Given the description of an element on the screen output the (x, y) to click on. 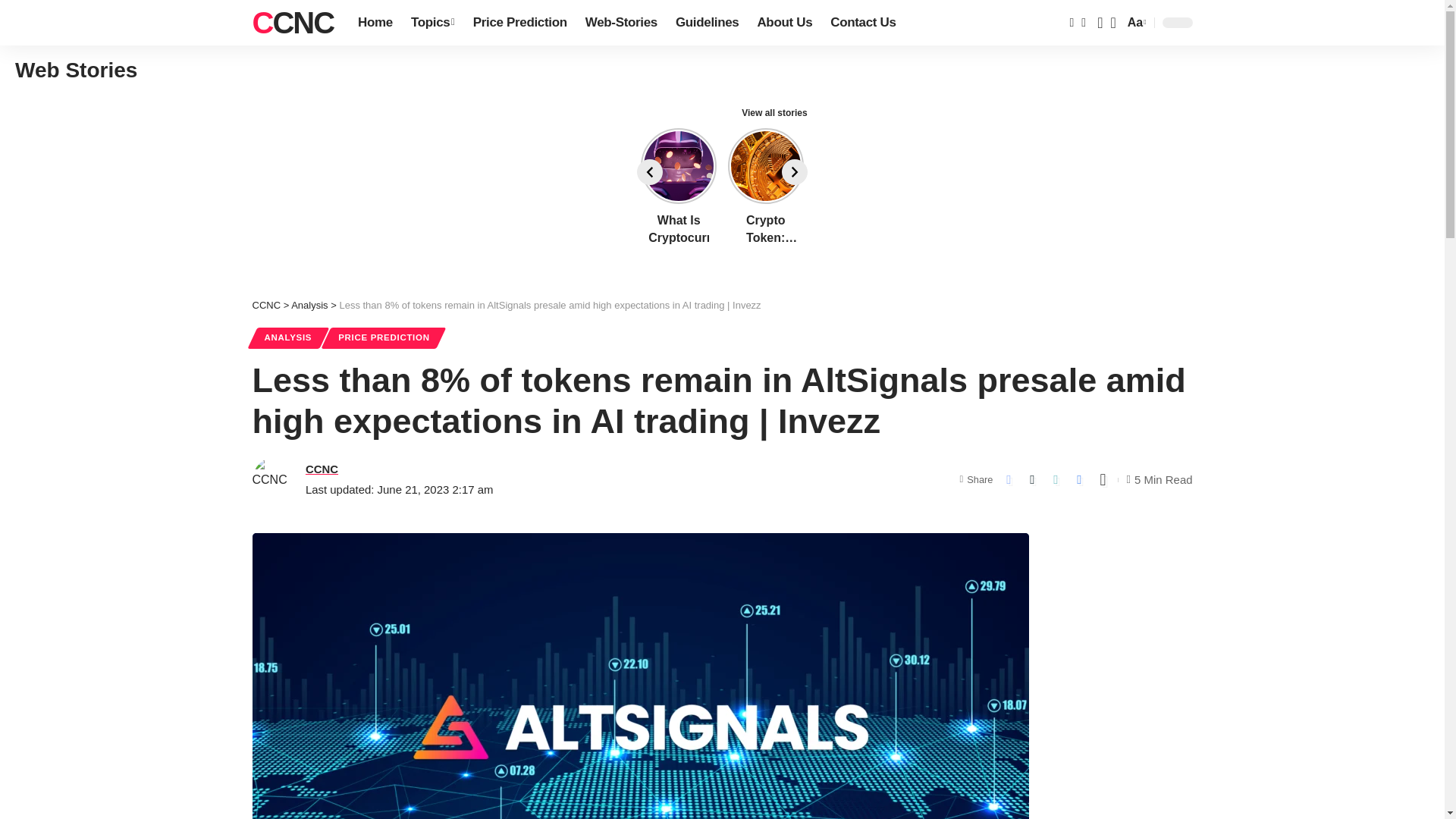
Go to the Analysis Category archives. (309, 305)
CCNC (292, 22)
Web-Stories (621, 22)
Contact Us (1135, 22)
About Us (862, 22)
Guidelines (784, 22)
Topics (707, 22)
CCNC (432, 22)
Go to CCNC. (292, 22)
